Given the description of an element on the screen output the (x, y) to click on. 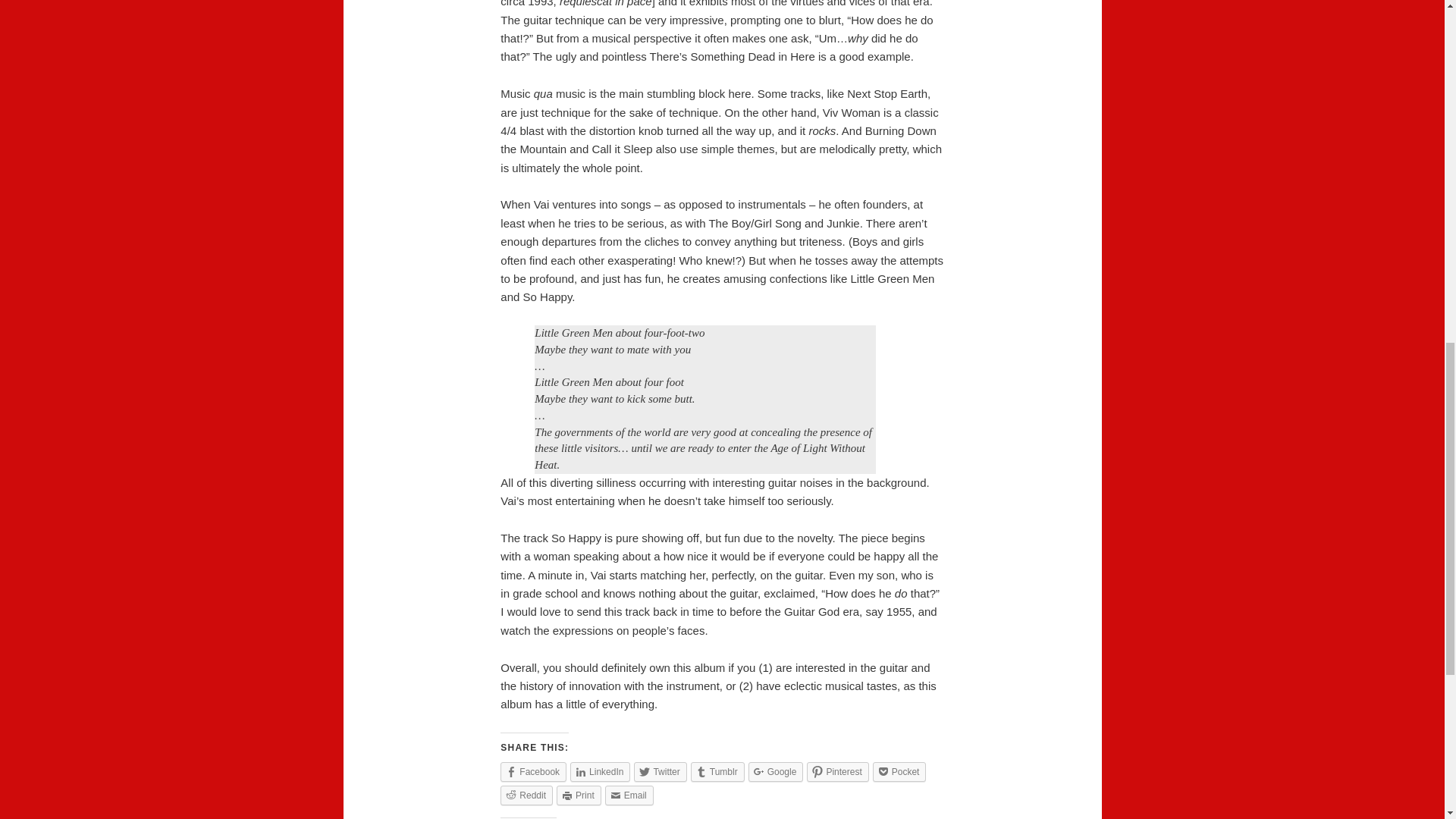
LinkedIn (600, 772)
Facebook (533, 772)
Click to share on Pinterest (836, 772)
Google (775, 772)
Tumblr (717, 772)
Click to share on Facebook (533, 772)
Click to share on Pocket (899, 772)
Reddit (526, 795)
Click to share on Reddit (526, 795)
Click to print (578, 795)
